Given the description of an element on the screen output the (x, y) to click on. 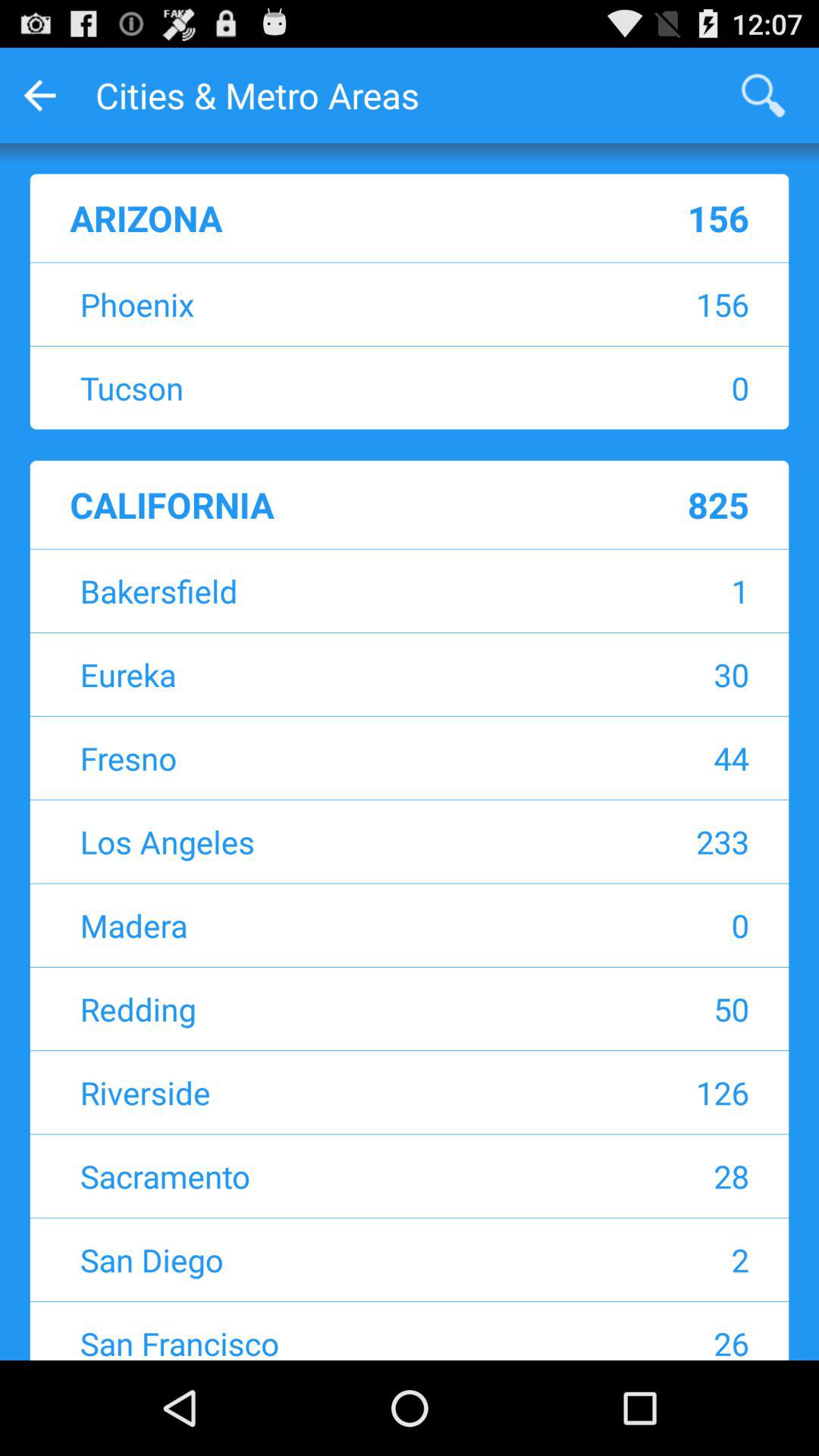
choose the app below riverside icon (314, 1175)
